Given the description of an element on the screen output the (x, y) to click on. 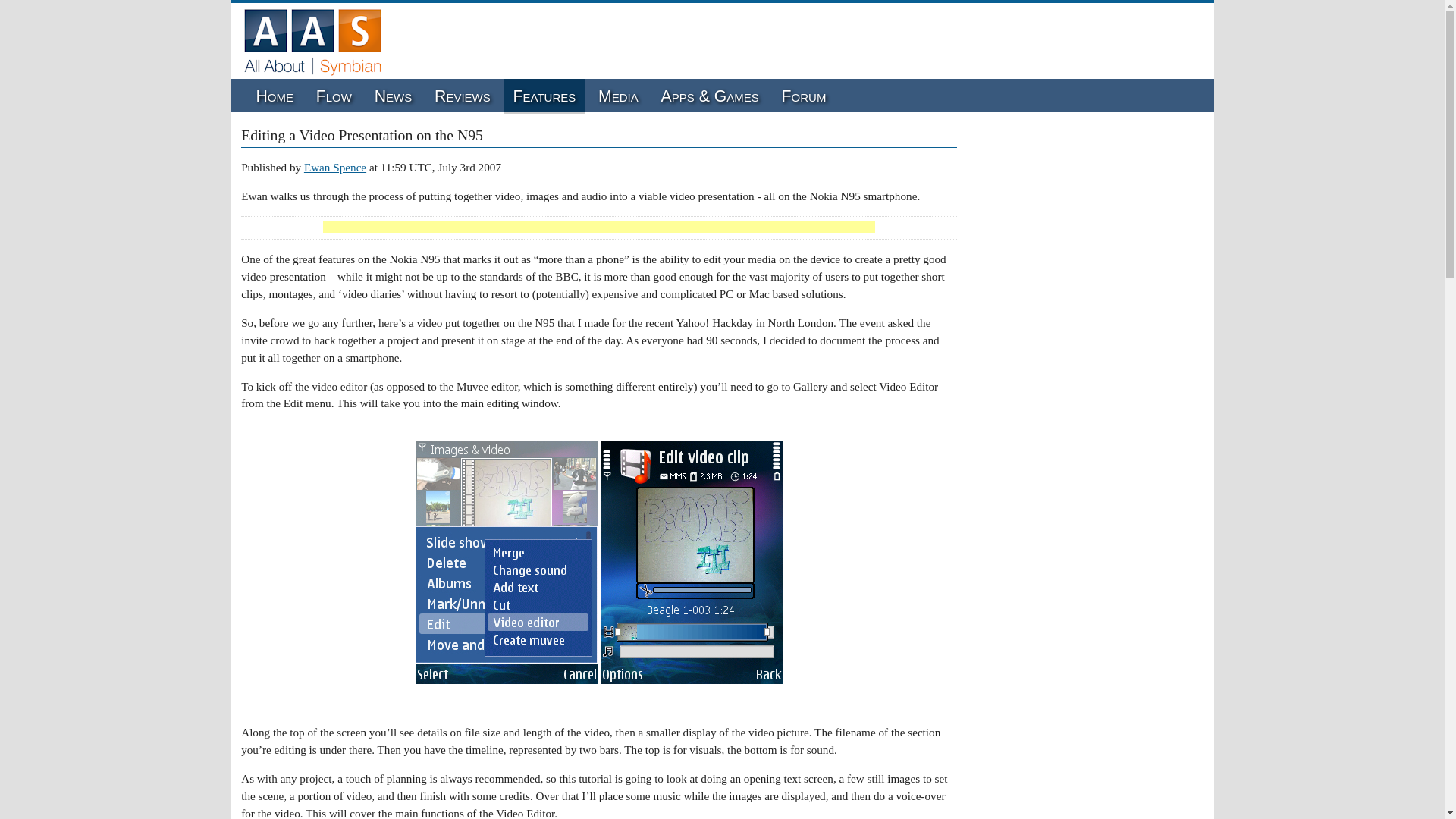
A curated stream of information on Symbian (334, 95)
Editorial news (392, 95)
Phone, accesory, app and games reviews (462, 95)
Home (274, 95)
Flow (334, 95)
Discussion Forum (803, 95)
Home page (274, 95)
Media (617, 95)
News (392, 95)
Ewan Spence (335, 166)
